Given the description of an element on the screen output the (x, y) to click on. 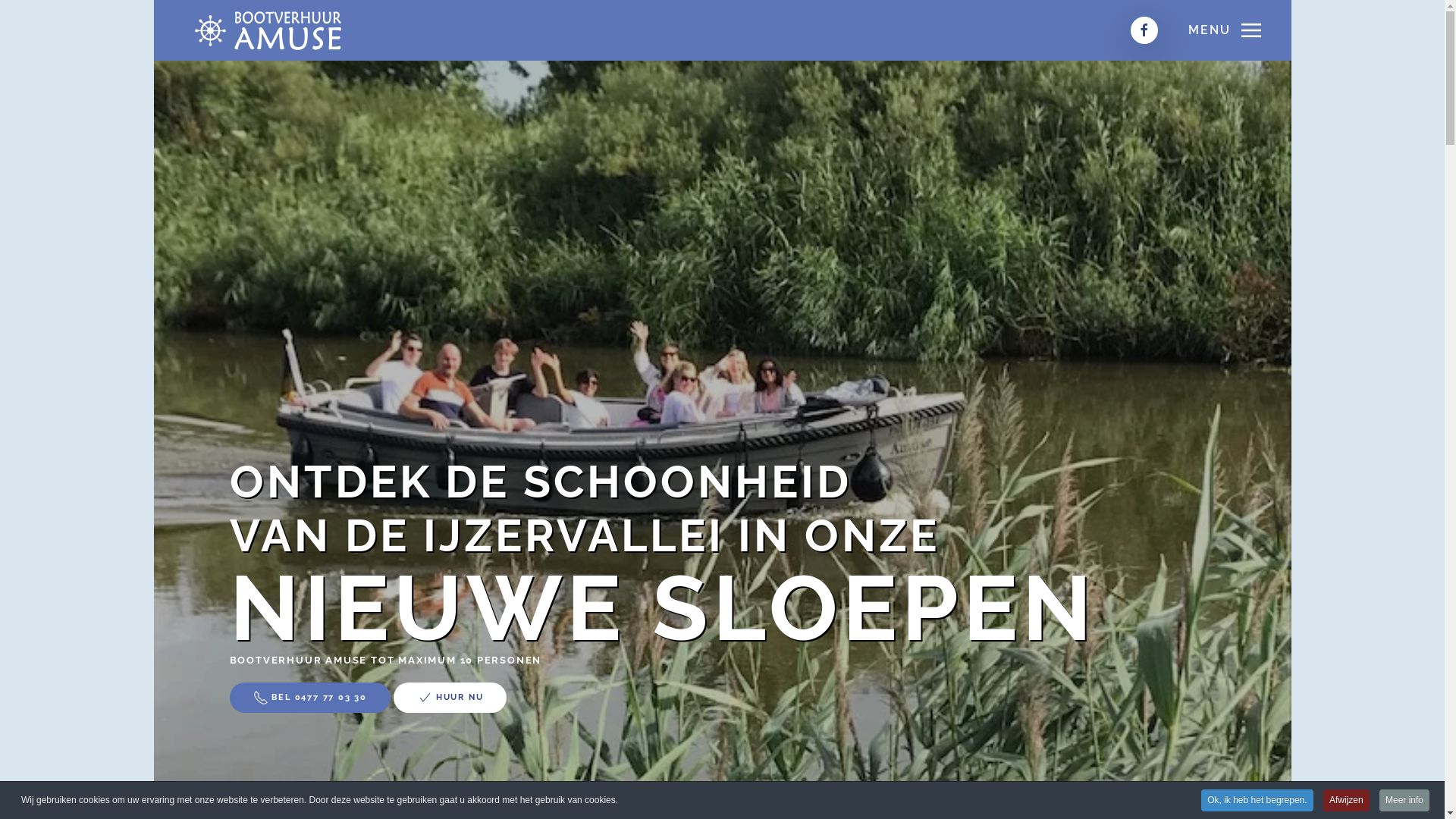
HUUR NU Element type: text (449, 697)
Meer info Element type: text (1404, 800)
Ok, ik heb het begrepen. Element type: text (1256, 800)
BEL 0477 77 03 30 Element type: text (309, 697)
Afwijzen Element type: text (1346, 800)
